Given the description of an element on the screen output the (x, y) to click on. 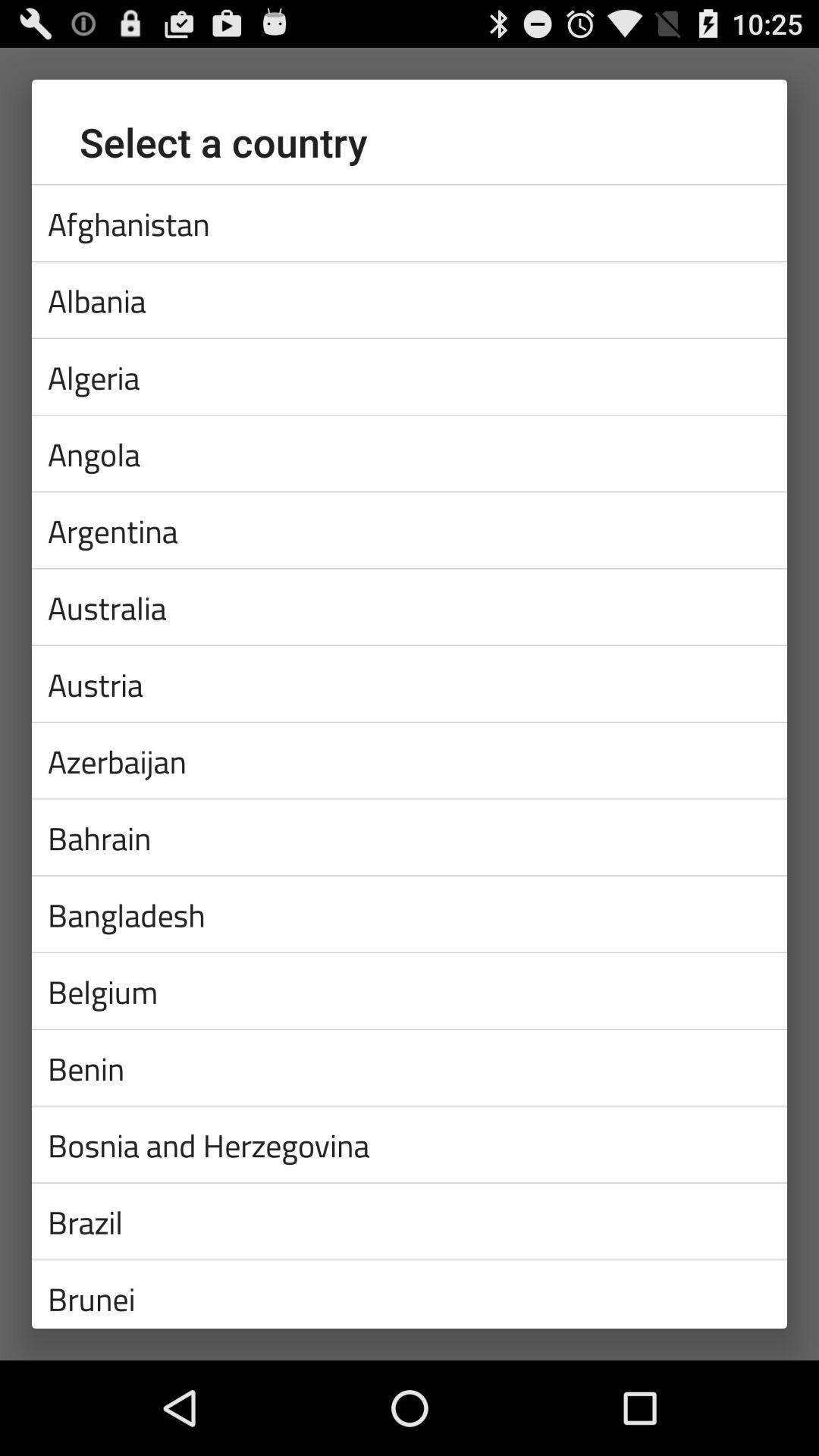
open the bosnia and herzegovina icon (409, 1144)
